Given the description of an element on the screen output the (x, y) to click on. 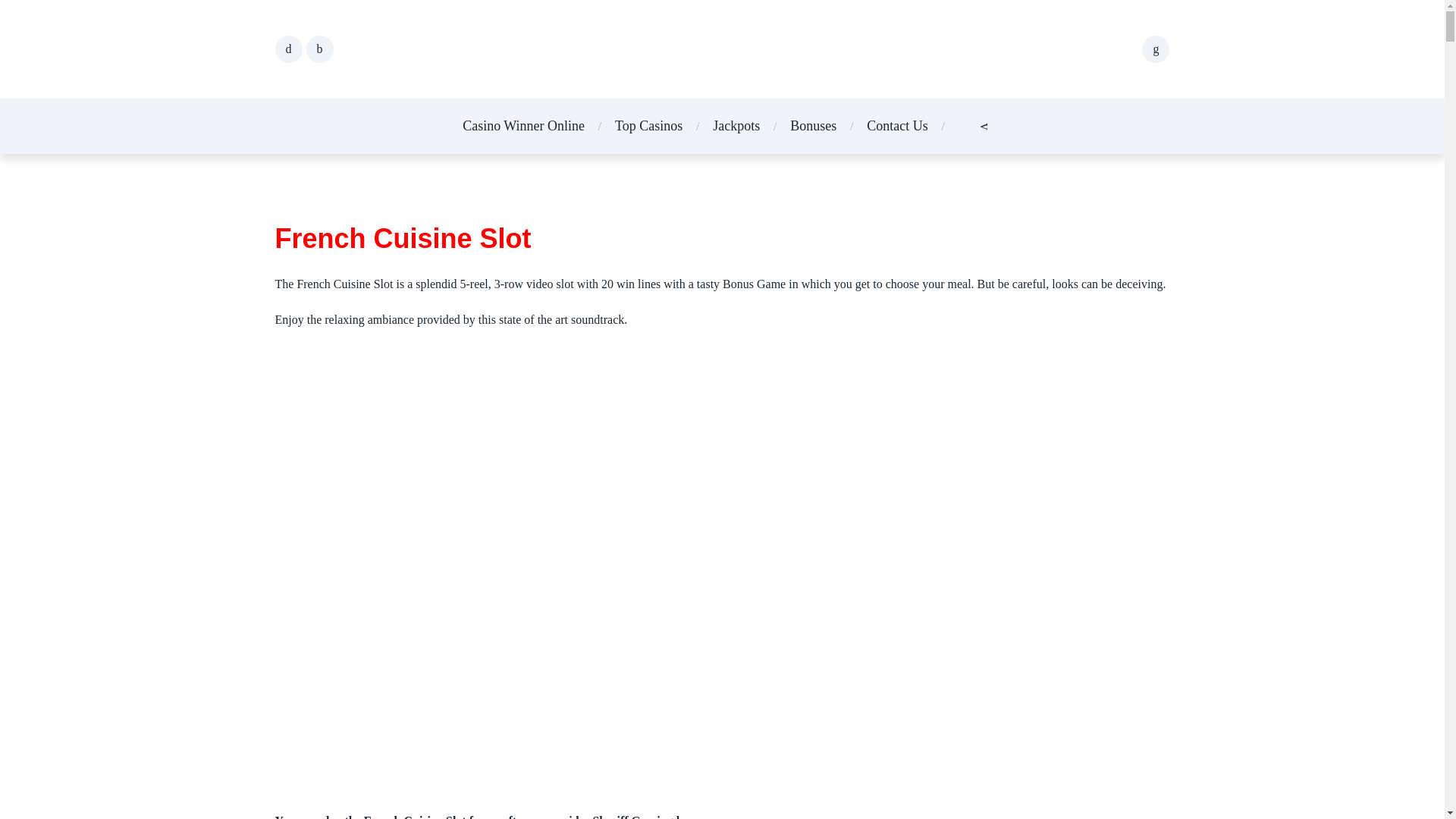
Jackpots (736, 126)
Top Casinos (648, 126)
Casino Winner Online (524, 126)
Contact Us (897, 126)
Bonuses (812, 126)
